Given the description of an element on the screen output the (x, y) to click on. 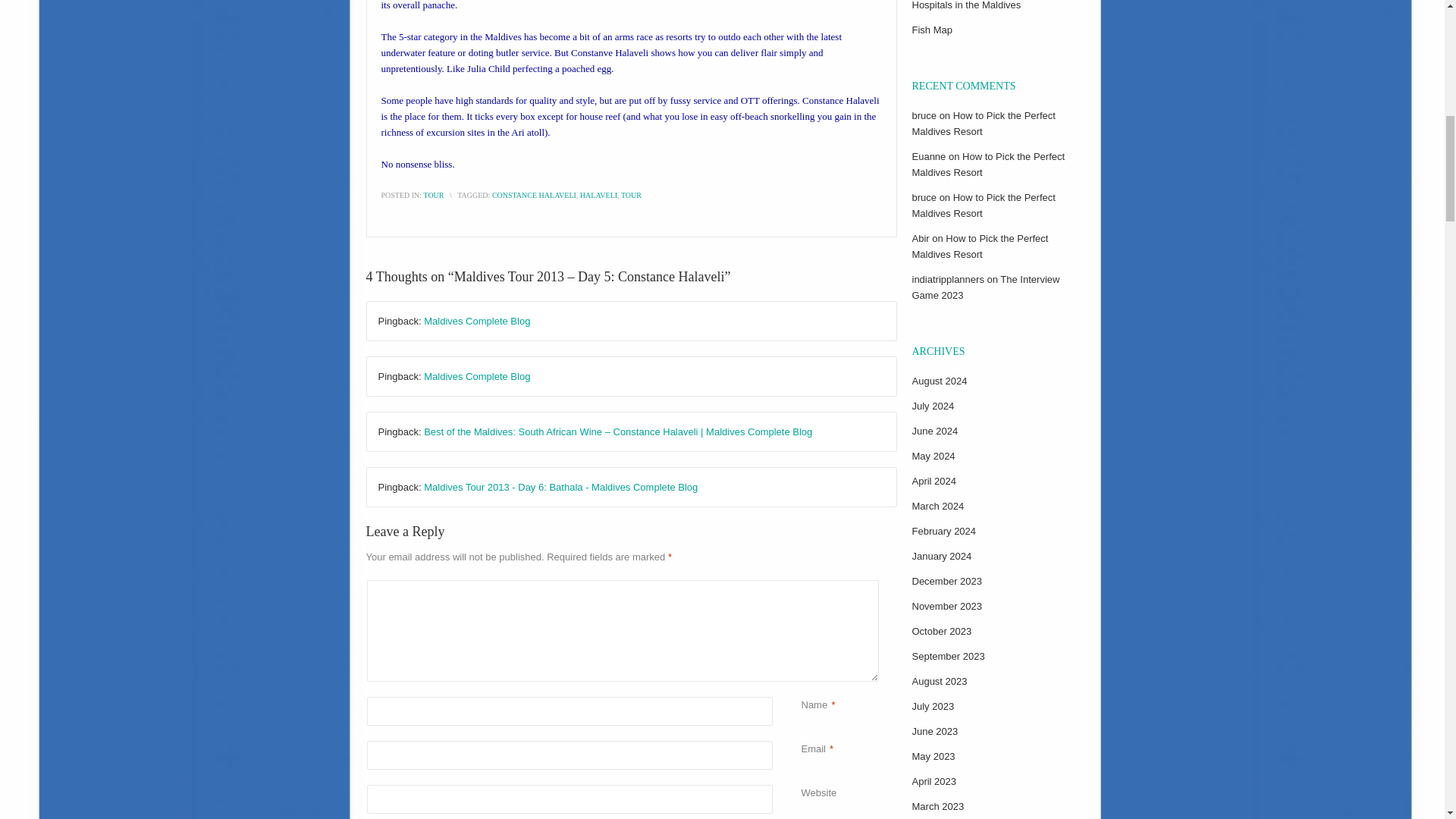
TOUR (631, 194)
How to Pick the Perfect Maldives Resort (982, 123)
CONSTANCE HALAVELI (534, 194)
Maldives Tour 2013 - Day 6: Bathala - Maldives Complete Blog (560, 487)
Maldives Complete Blog (476, 376)
TOUR (433, 194)
How to Pick the Perfect Maldives Resort (987, 164)
The Interview Game 2023 (985, 287)
How to Pick the Perfect Maldives Resort (982, 205)
Maldives Complete Blog (476, 320)
